Given the description of an element on the screen output the (x, y) to click on. 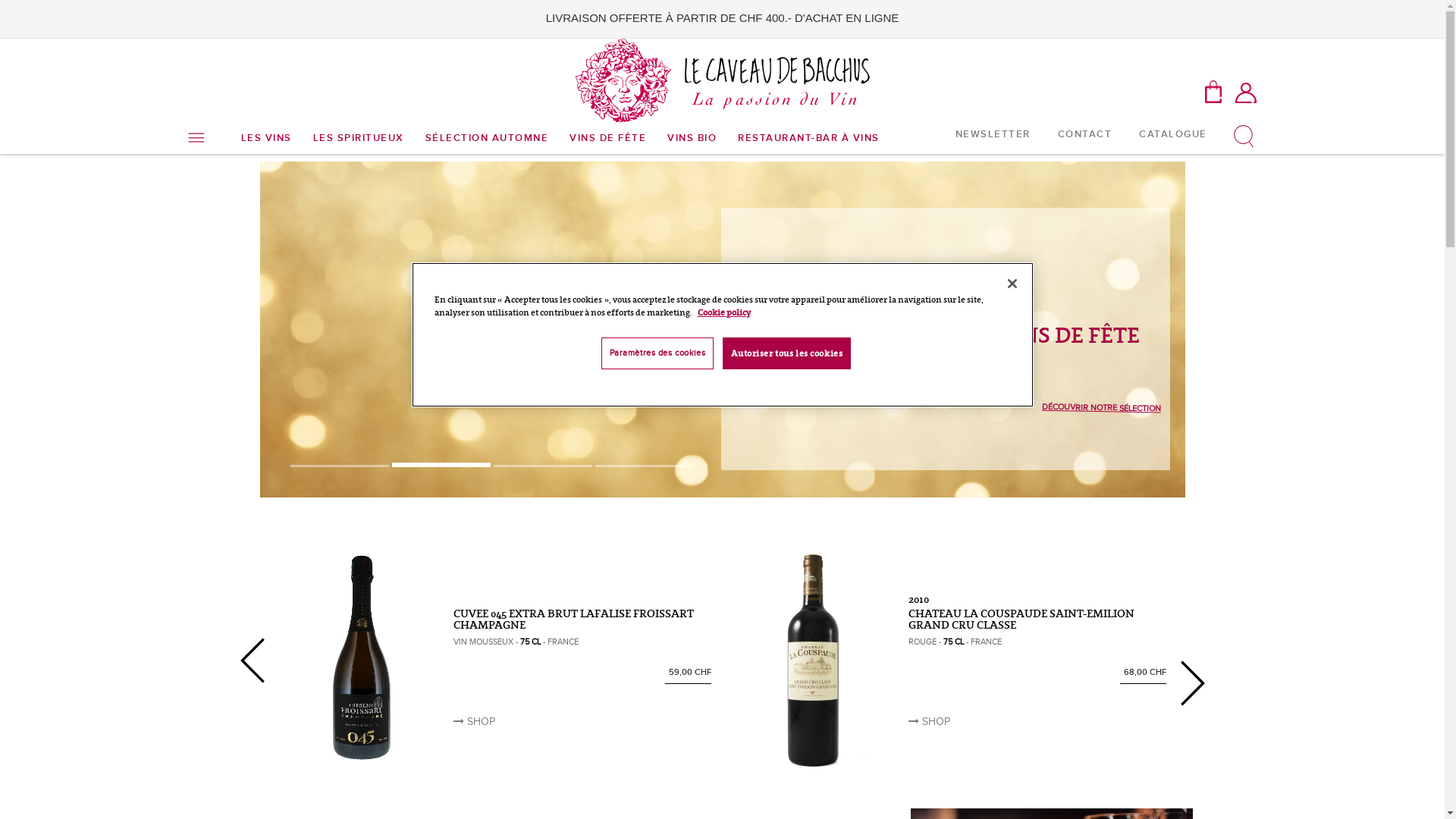
Mon compte Element type: text (1245, 91)
VINS BIO Element type: text (691, 137)
Previous Element type: text (251, 660)
CONTACT Element type: text (1084, 133)
Cookie policy Element type: text (723, 311)
MON PANIER Element type: text (1212, 91)
Le Caveau de Bacchus - La passion du vin Element type: hover (722, 80)
LES VINS Element type: text (266, 137)
CATALOGUE Element type: text (1173, 133)
Autoriser tous les cookies Element type: text (785, 353)
SHOP Element type: text (929, 721)
LES SPIRITUEUX Element type: text (357, 137)
SHOP Element type: text (474, 721)
RECHERCHE Element type: text (1241, 53)
NEWSLETTER Element type: text (992, 133)
Next Element type: text (1191, 683)
